Given the description of an element on the screen output the (x, y) to click on. 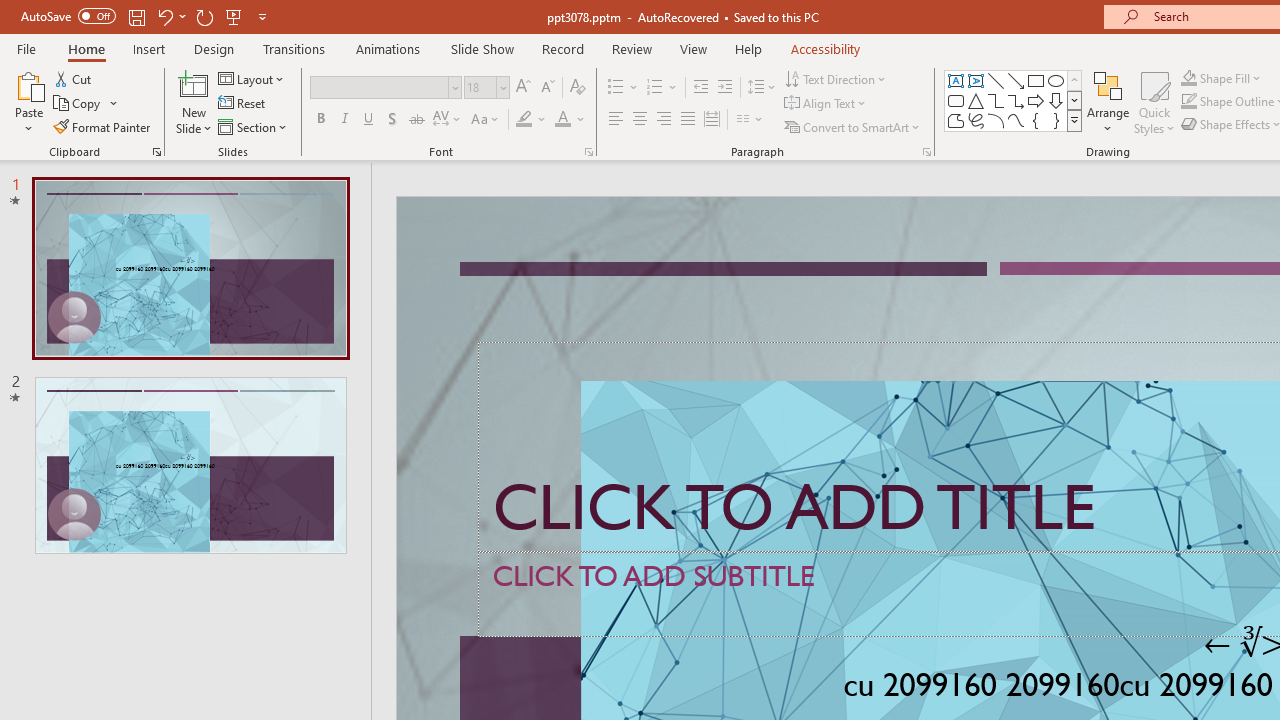
Open (502, 87)
Layout (252, 78)
Arrow: Right (1035, 100)
New Slide (193, 84)
Change Case (486, 119)
Font (385, 87)
Align Text (826, 103)
Section (254, 126)
Font Color Red (562, 119)
Accessibility (825, 48)
Bold (320, 119)
Format Painter (103, 126)
